Given the description of an element on the screen output the (x, y) to click on. 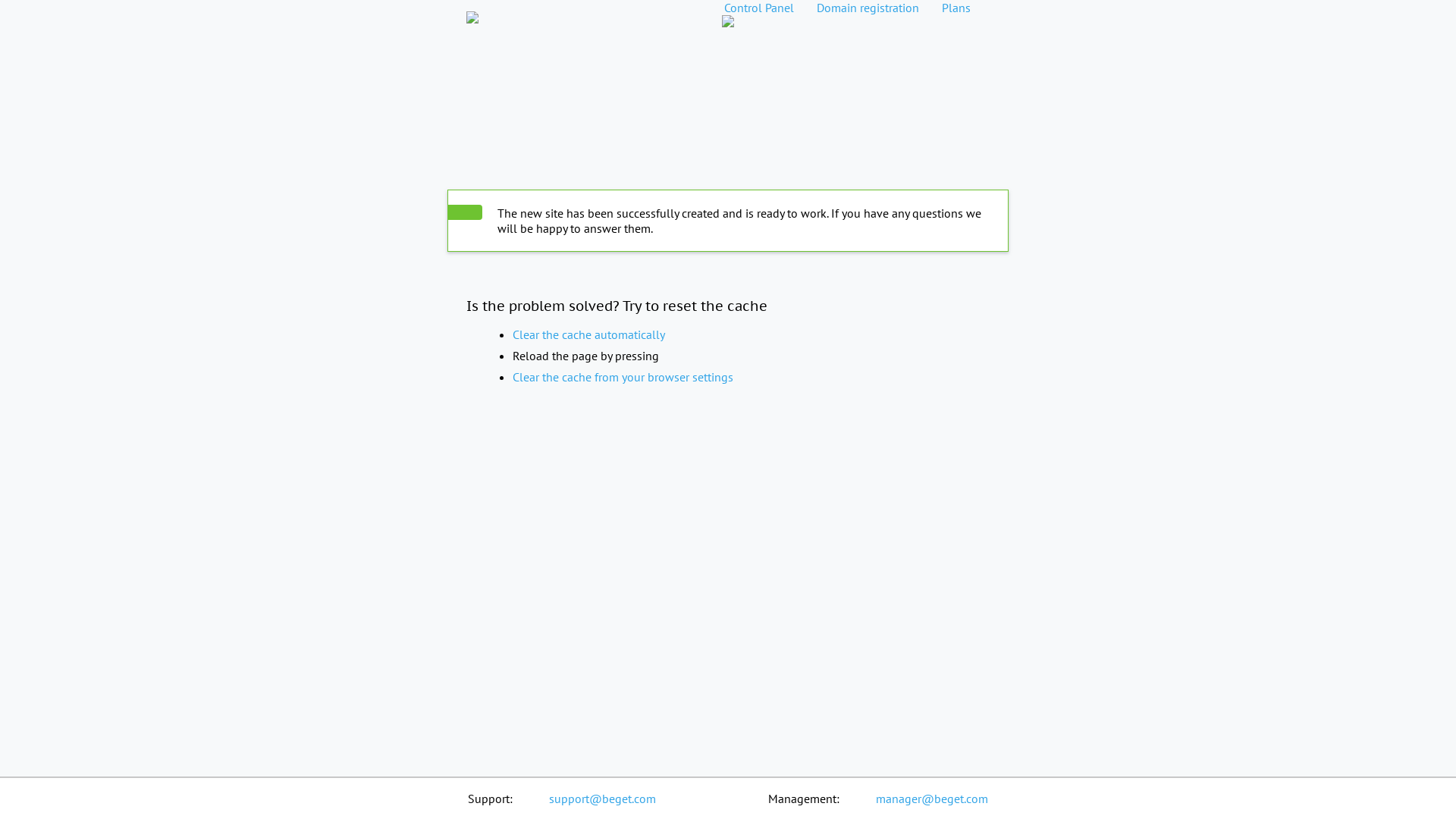
Plans Element type: text (956, 7)
manager@beget.com Element type: text (931, 798)
Clear the cache automatically Element type: text (588, 334)
support@beget.com Element type: text (602, 798)
Clear the cache from your browser settings Element type: text (622, 376)
Web hosting home page Element type: hover (472, 7)
Domain registration Element type: text (867, 7)
Control Panel Element type: text (758, 7)
